Given the description of an element on the screen output the (x, y) to click on. 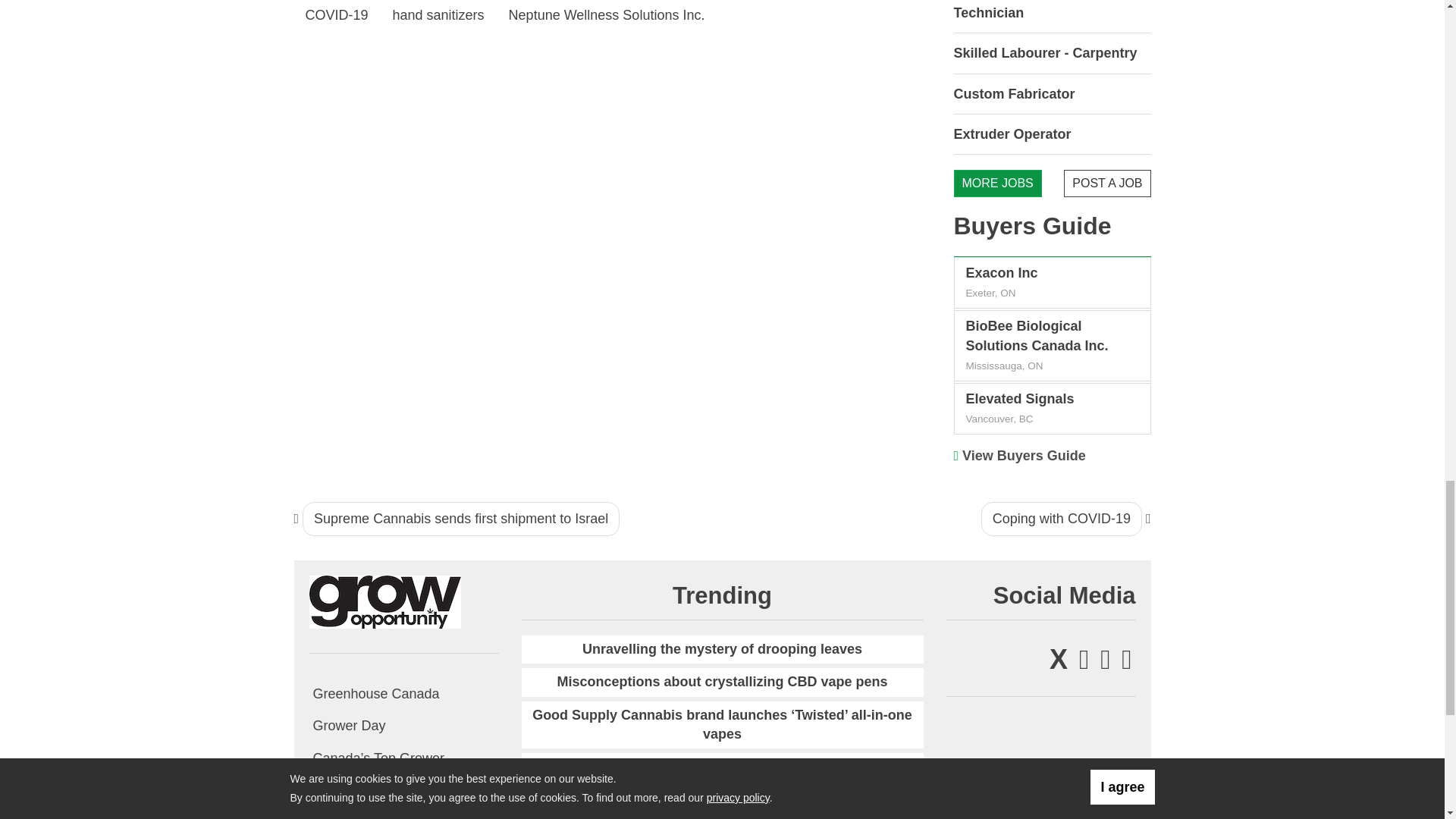
Grow Opportunity (384, 601)
